Given the description of an element on the screen output the (x, y) to click on. 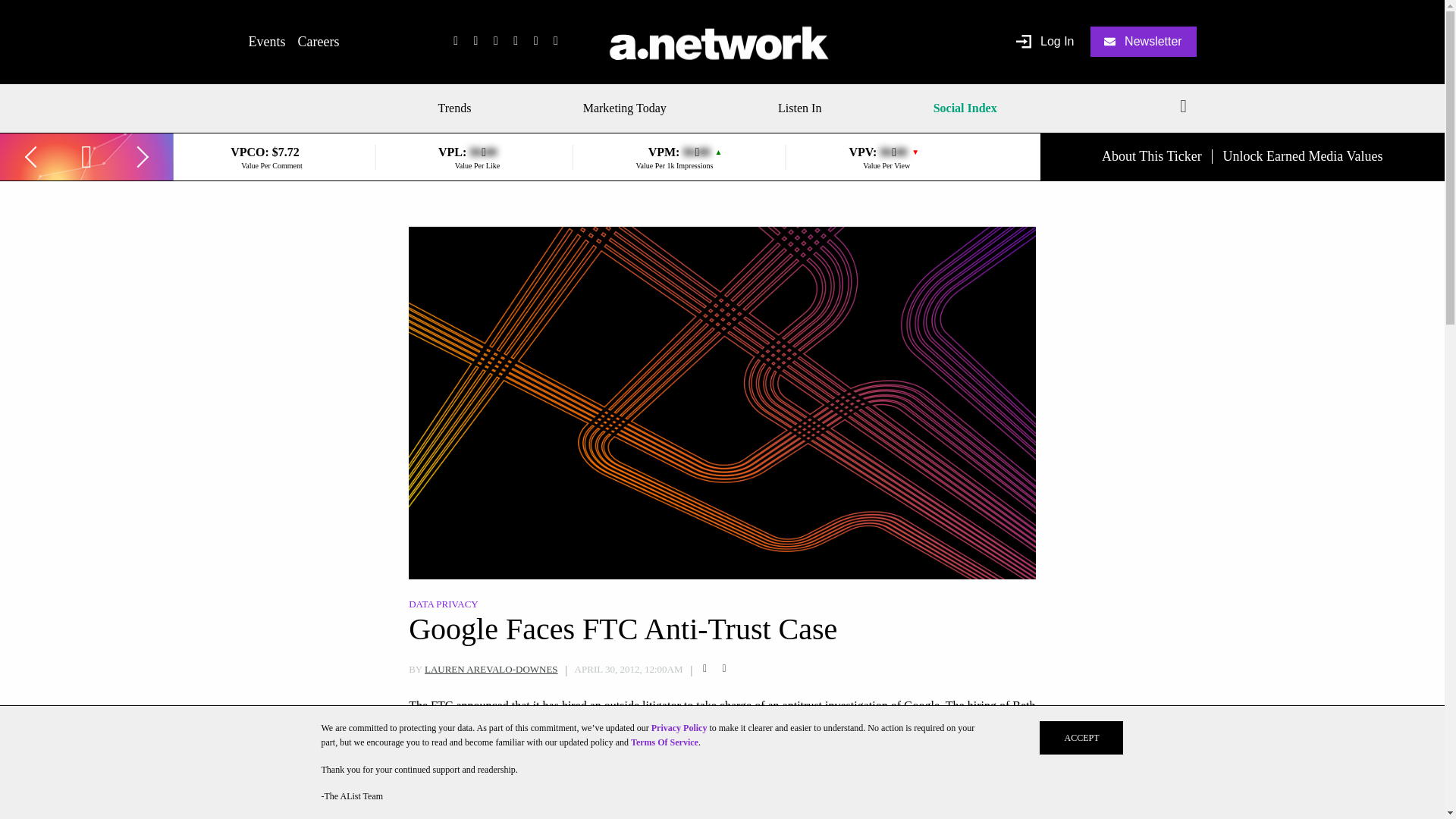
Marketing Today (625, 108)
Careers (318, 41)
Social Index (965, 108)
Trends (459, 108)
Log In (1045, 42)
Newsletter (1143, 41)
Events (266, 41)
Listen In (799, 108)
